Given the description of an element on the screen output the (x, y) to click on. 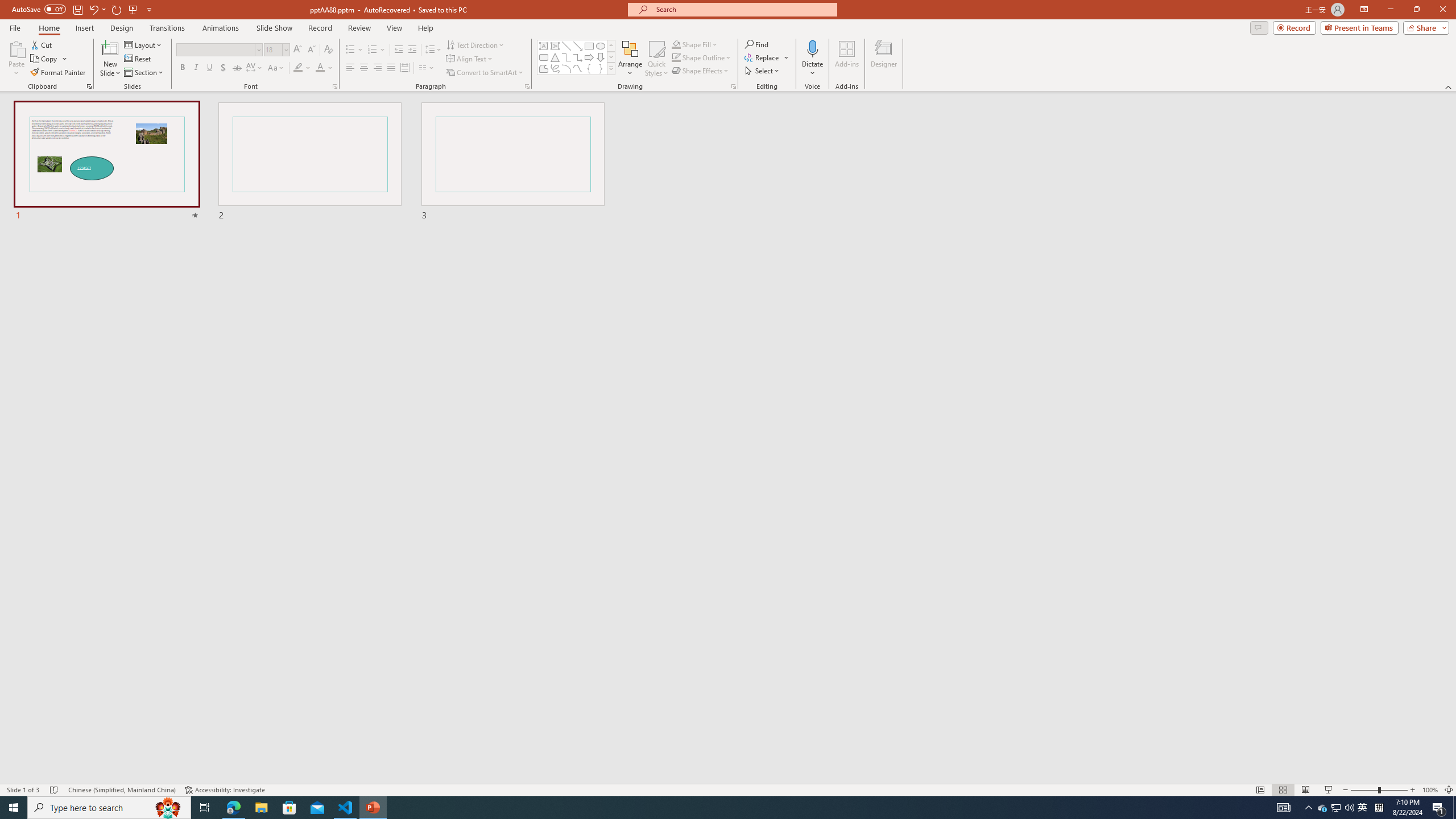
Shape Effects (700, 69)
Shapes (611, 68)
Format Painter (58, 72)
Arrange (630, 58)
